Given the description of an element on the screen output the (x, y) to click on. 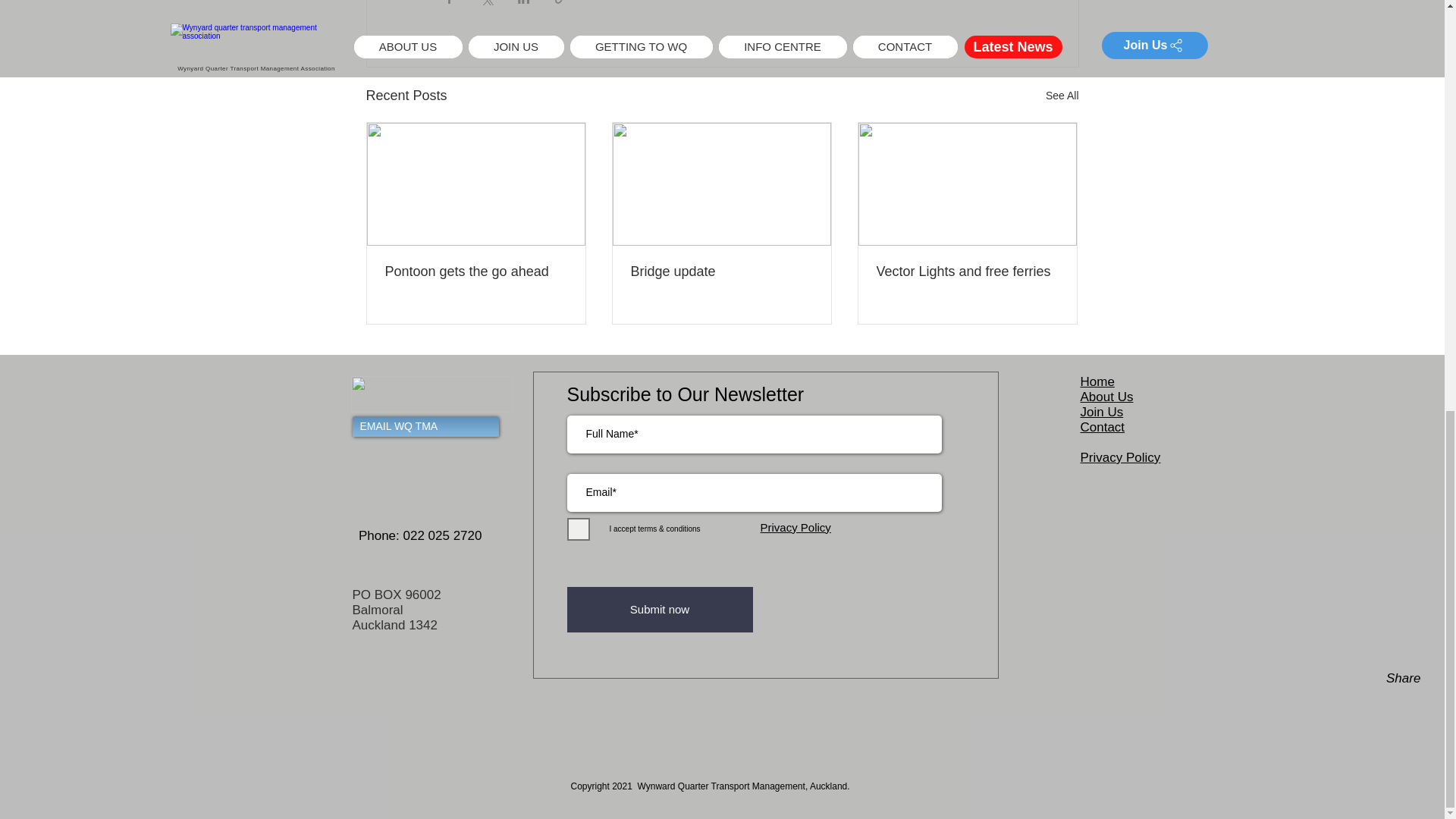
See All (1061, 96)
